Given the description of an element on the screen output the (x, y) to click on. 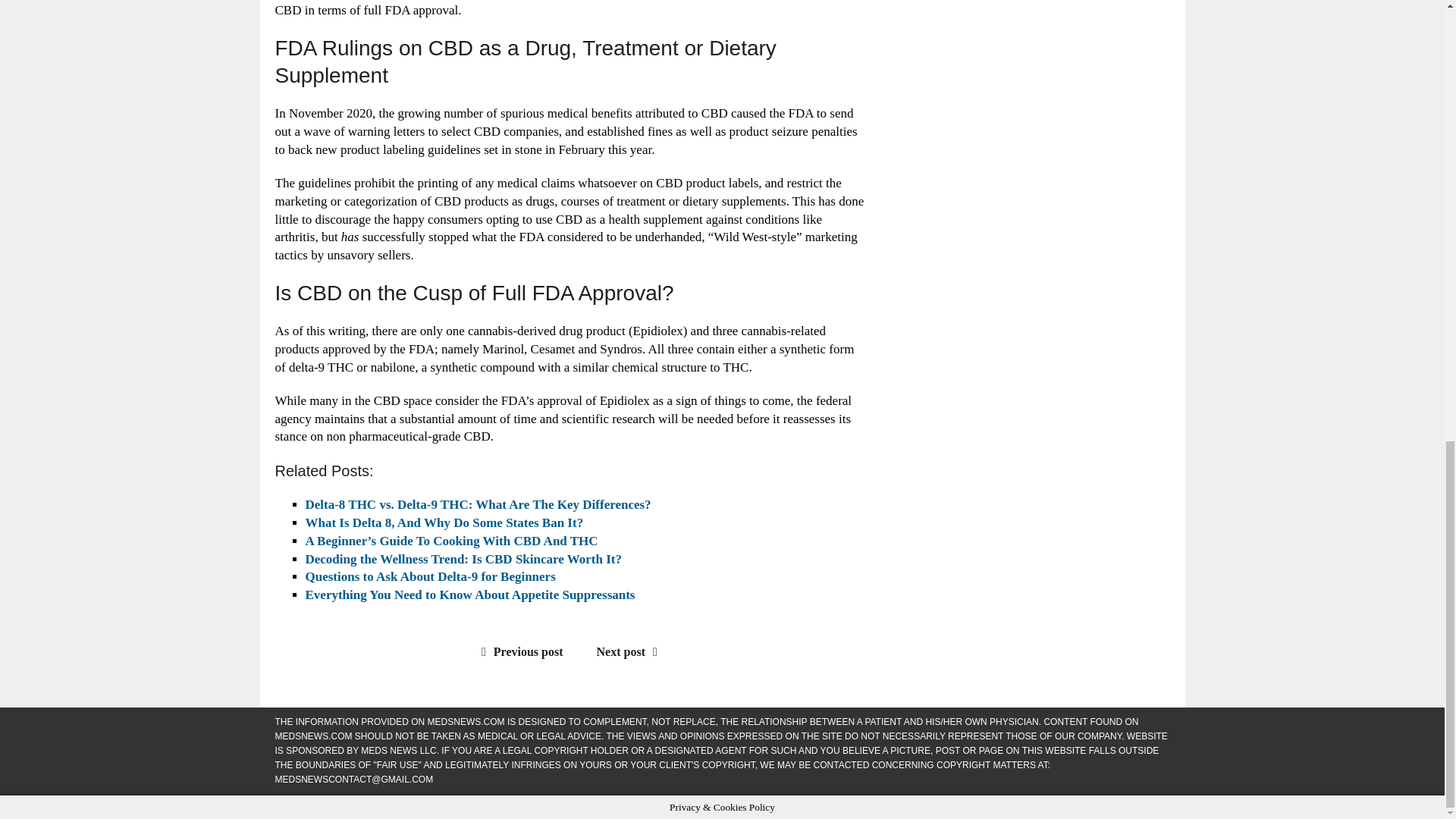
Decoding the Wellness Trend: Is CBD Skincare Worth It? (462, 559)
Everything You Need to Know About Appetite Suppressants (469, 594)
Questions to Ask About Delta-9 for Beginners (429, 576)
Previous post (518, 651)
Delta-8 THC vs. Delta-9 THC: What Are The Key Differences? (477, 504)
What Is Delta 8, And Why Do Some States Ban It? (443, 522)
Next post (630, 651)
